Given the description of an element on the screen output the (x, y) to click on. 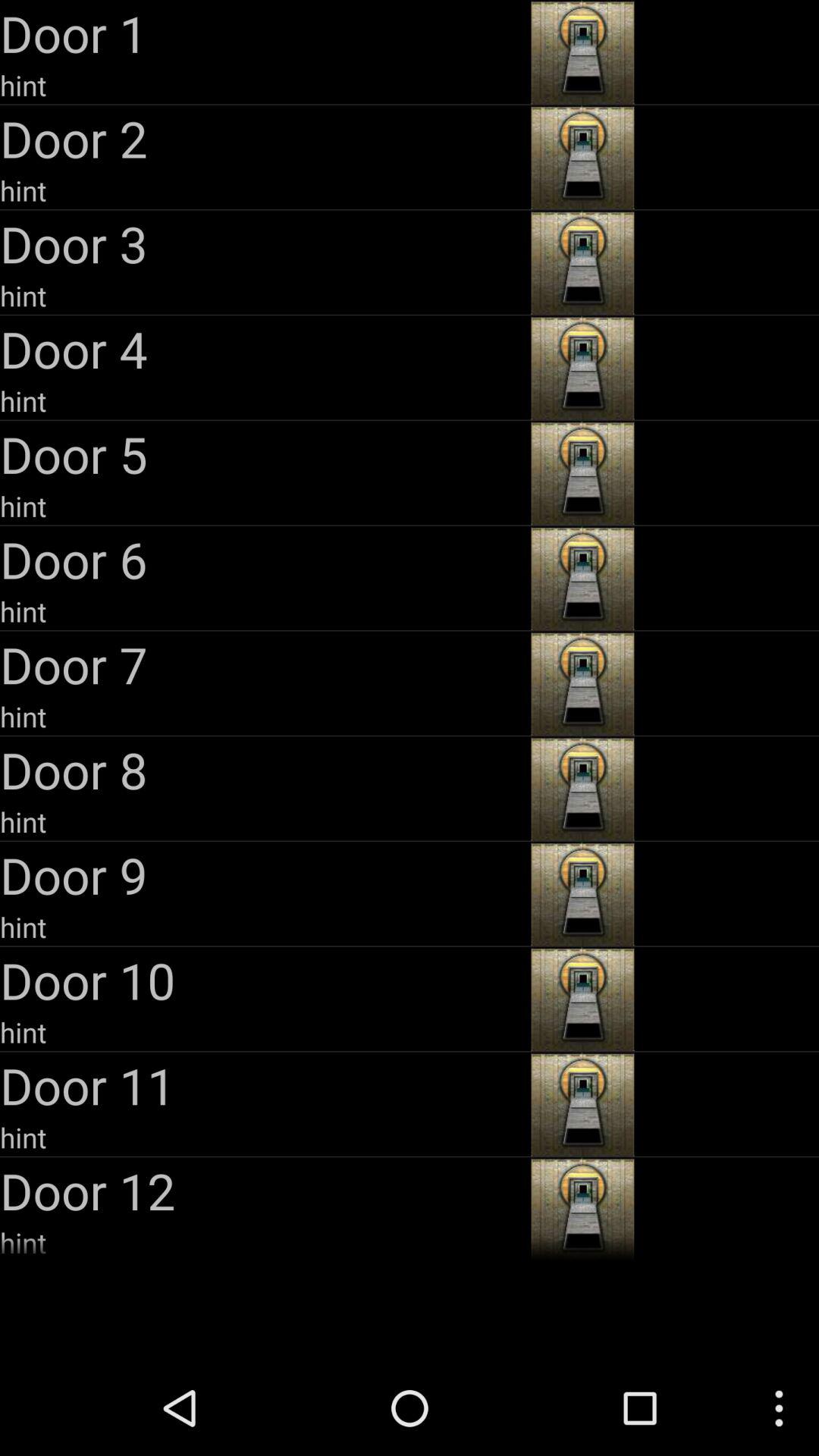
press the door 10 item (263, 979)
